Given the description of an element on the screen output the (x, y) to click on. 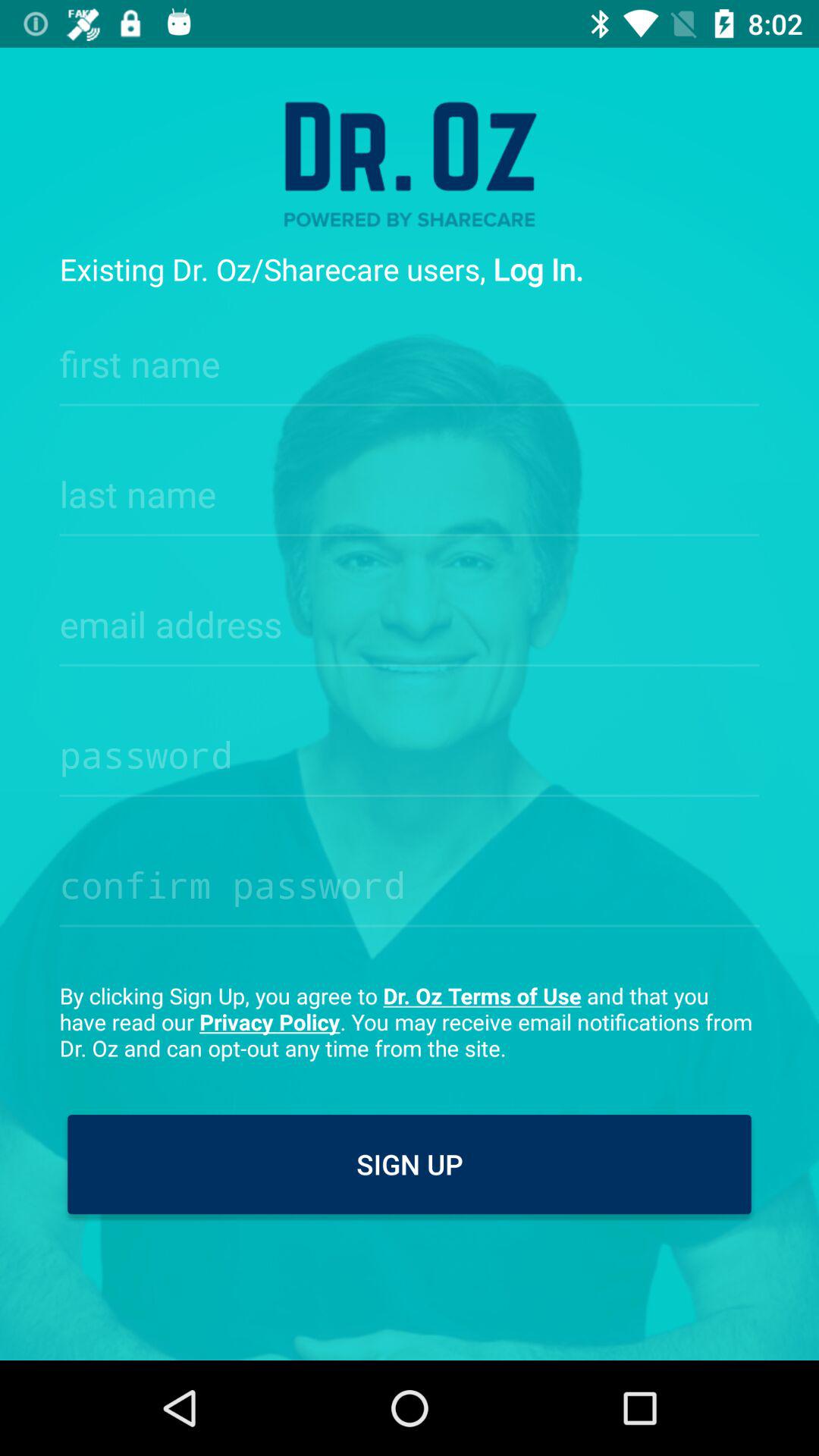
passsword confirmation (409, 880)
